Given the description of an element on the screen output the (x, y) to click on. 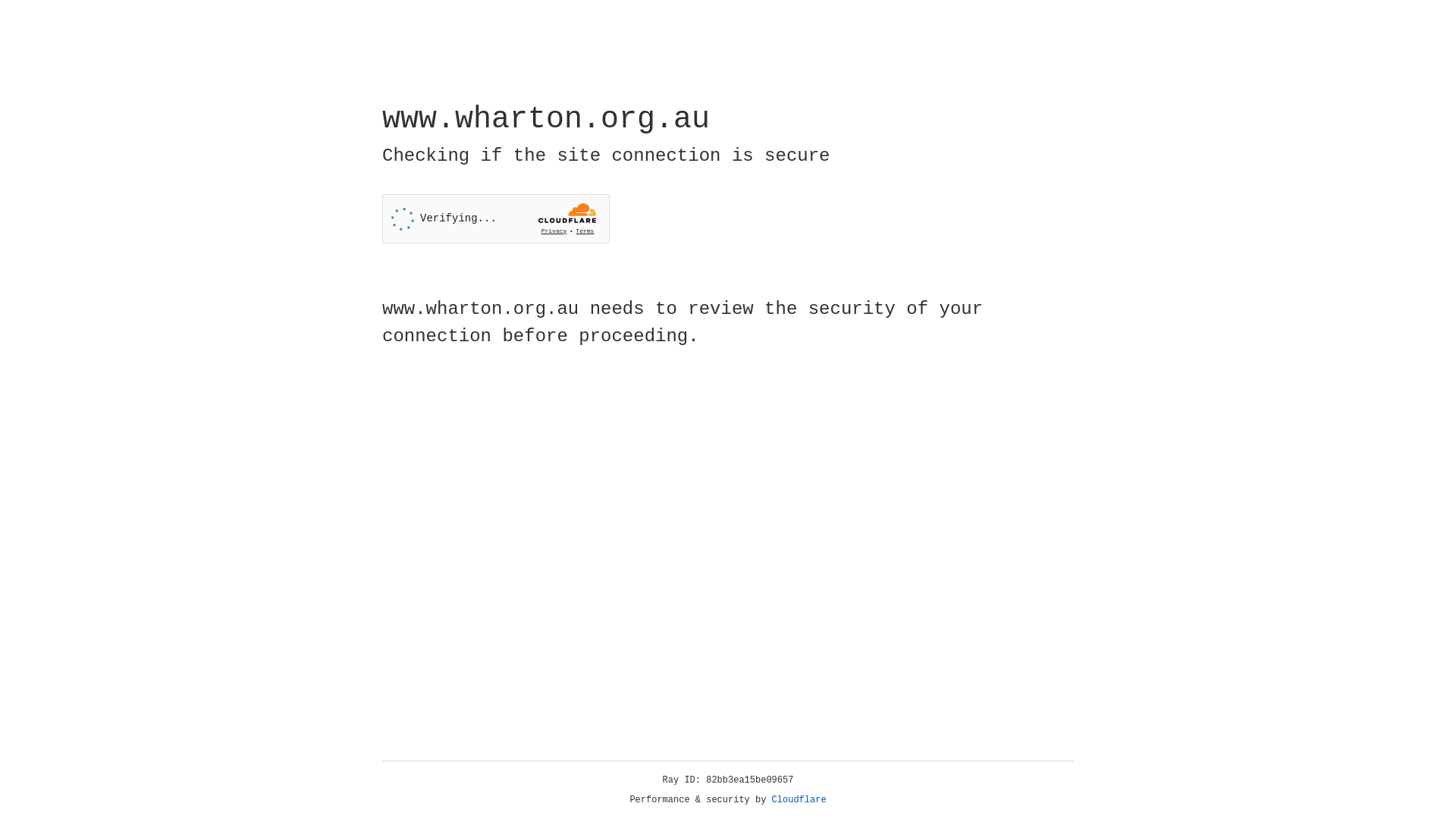
Cloudflare Element type: text (798, 799)
Widget containing a Cloudflare security challenge Element type: hover (495, 218)
